Given the description of an element on the screen output the (x, y) to click on. 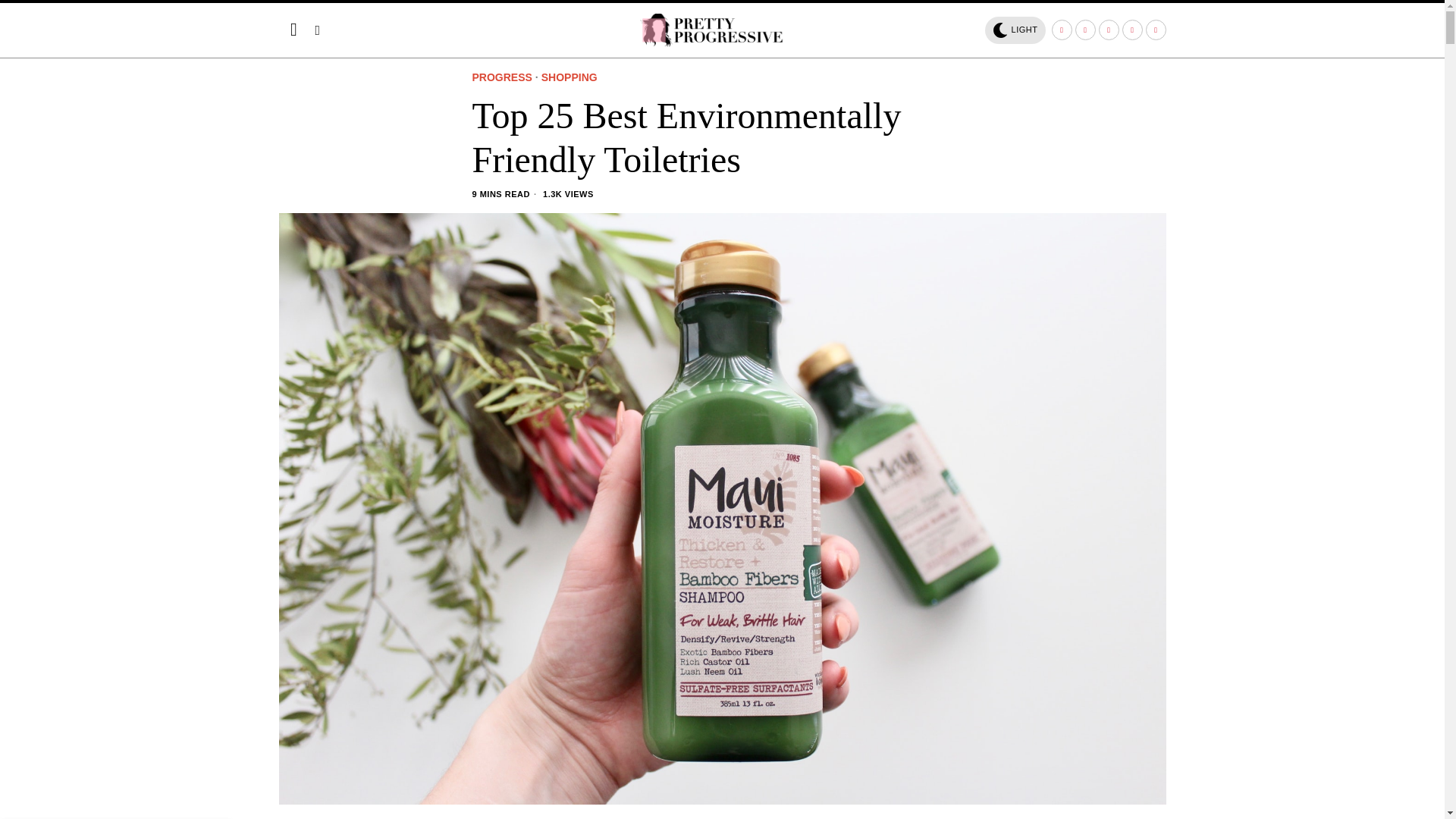
SHOPPING (568, 78)
PROGRESS (501, 78)
